Given the description of an element on the screen output the (x, y) to click on. 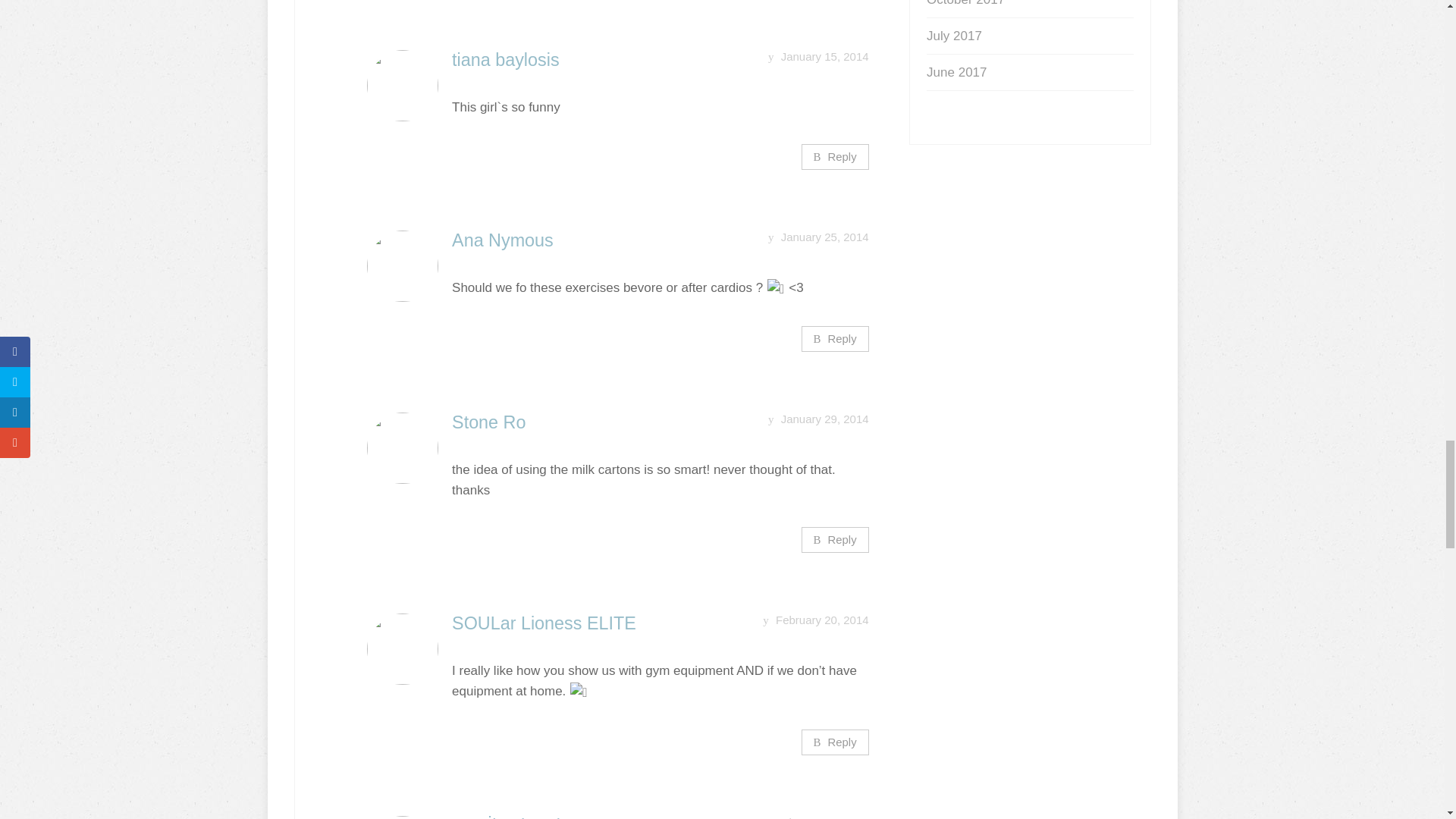
Reply (835, 156)
Reply (835, 539)
Reply (835, 338)
